Given the description of an element on the screen output the (x, y) to click on. 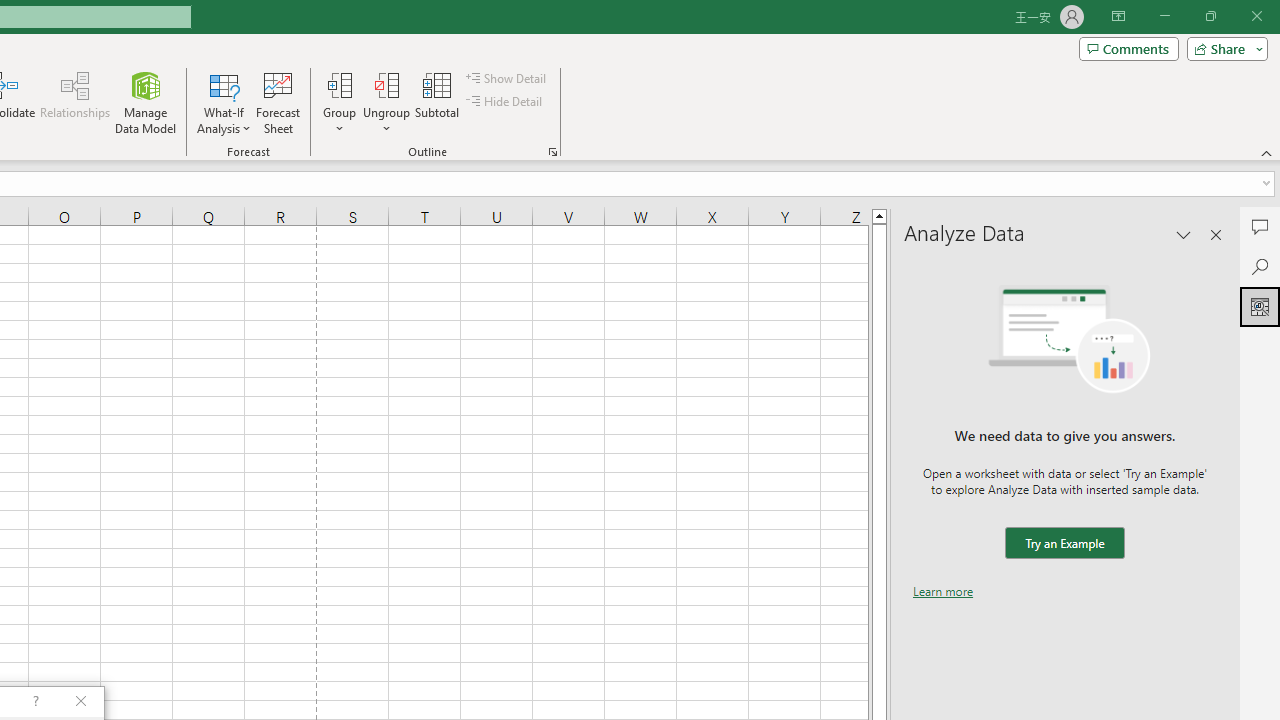
Learn more (943, 591)
Task Pane Options (1183, 234)
Relationships (75, 102)
Analyze Data (1260, 306)
Group... (339, 84)
Close (1256, 16)
What-If Analysis (223, 102)
Ribbon Display Options (1118, 16)
Group and Outline Settings (552, 151)
Subtotal (437, 102)
Manage Data Model (145, 102)
Forecast Sheet (278, 102)
Search (1260, 266)
We need data to give you answers. Try an Example (1064, 543)
Collapse the Ribbon (1267, 152)
